Given the description of an element on the screen output the (x, y) to click on. 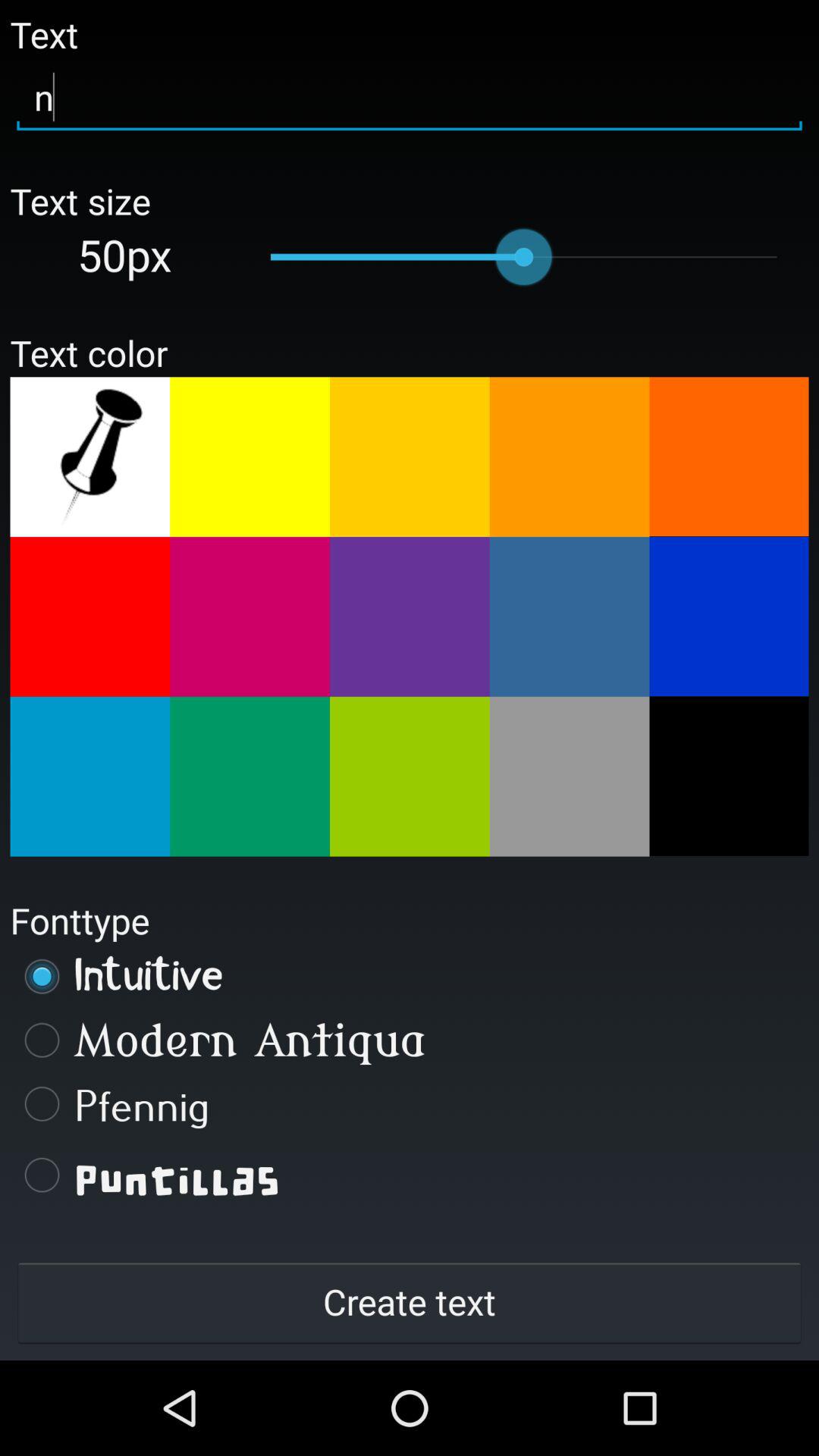
select he colour box (728, 456)
